Given the description of an element on the screen output the (x, y) to click on. 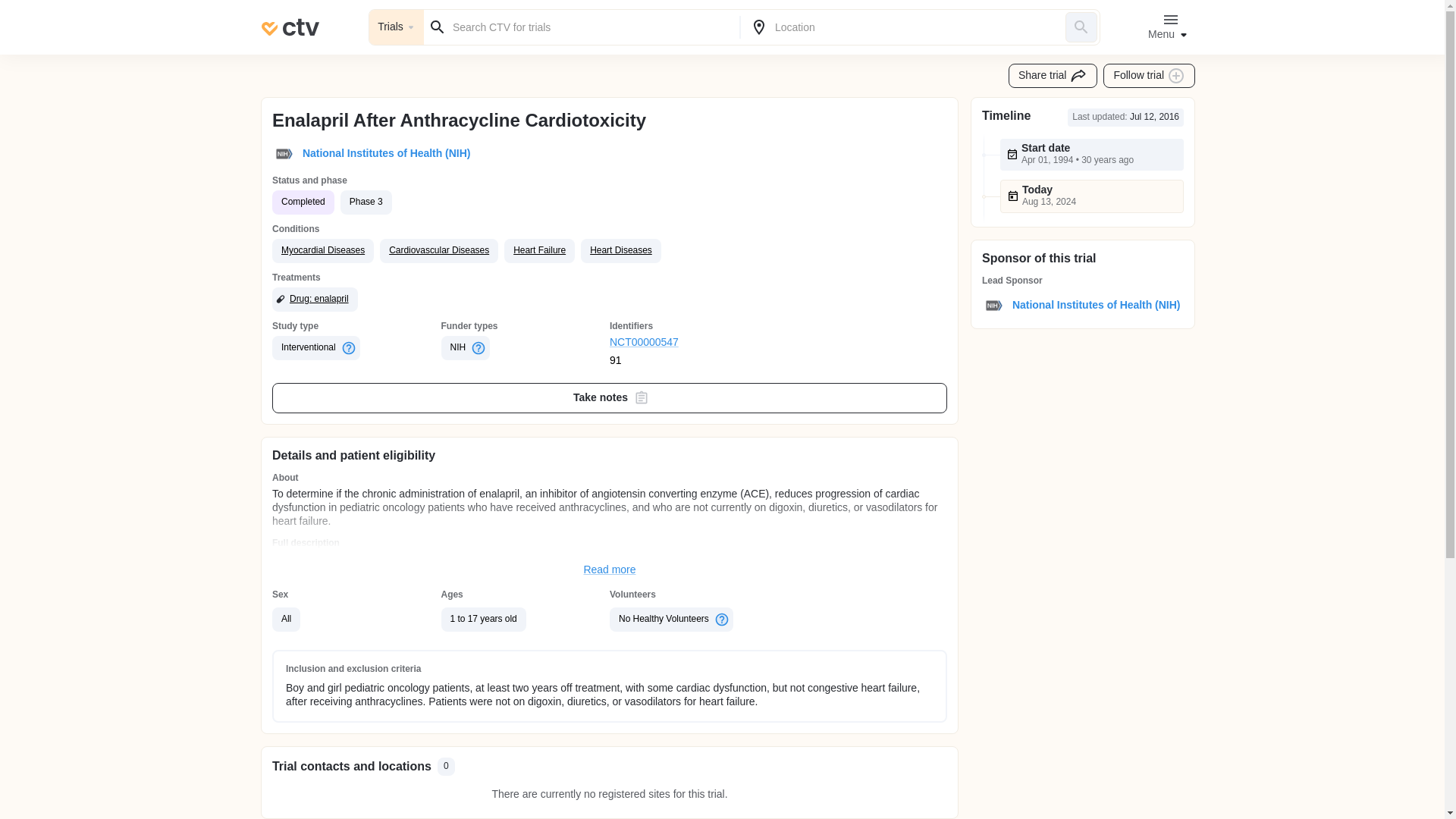
Follow trial (1149, 75)
Take notes (609, 398)
Share trial (1053, 75)
NCT00000547 (694, 342)
Read more (609, 570)
Trials (396, 27)
